Given the description of an element on the screen output the (x, y) to click on. 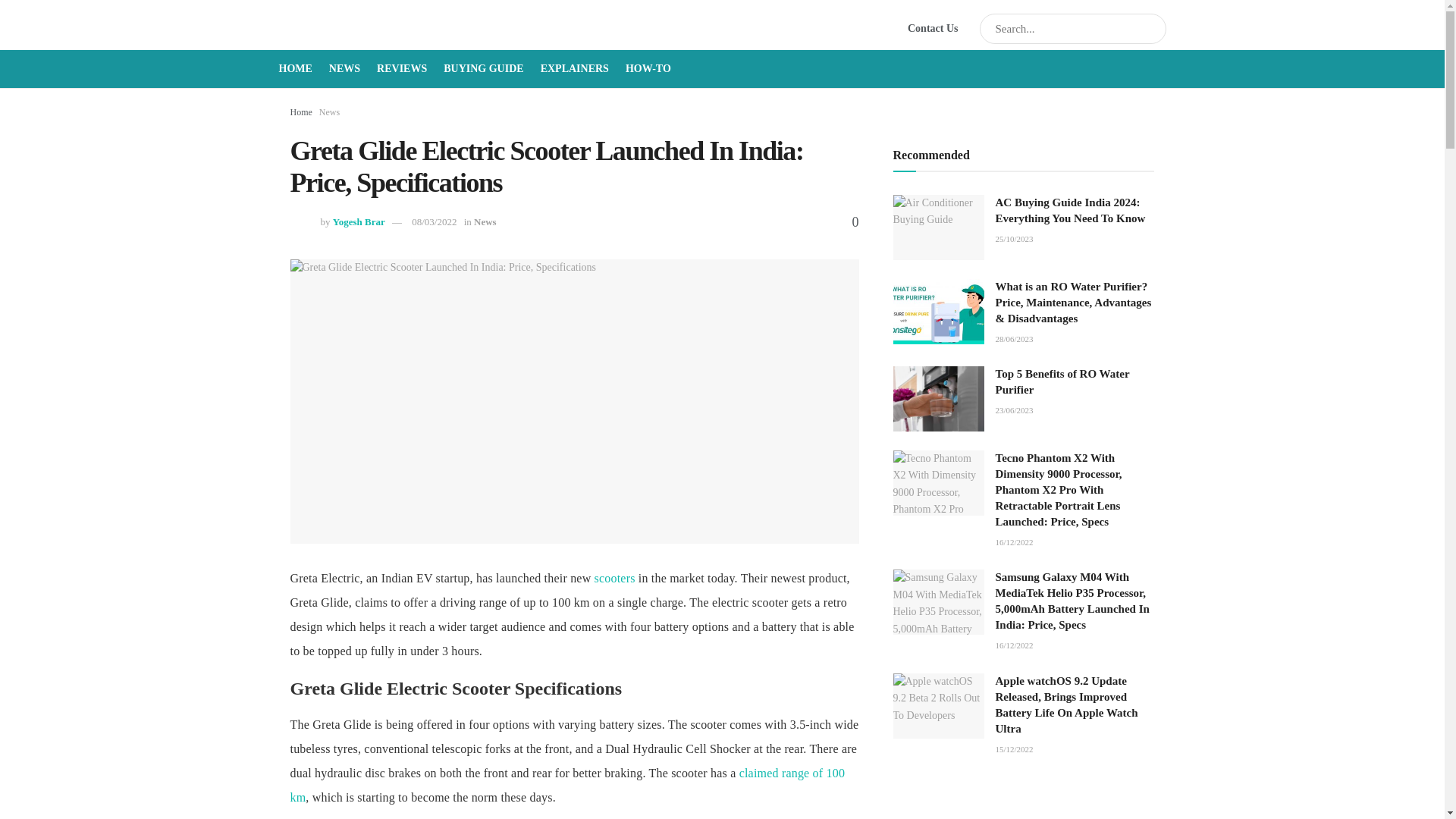
Yogesh Brar (359, 221)
NEWS (344, 68)
claimed range of 100 km (566, 784)
Home (300, 112)
HOME (296, 68)
BUYING GUIDE (483, 68)
Contact Us (932, 28)
EXPLAINERS (574, 68)
REVIEWS (401, 68)
HOW-TO (648, 68)
scooters (614, 577)
News (485, 221)
News (328, 112)
